Given the description of an element on the screen output the (x, y) to click on. 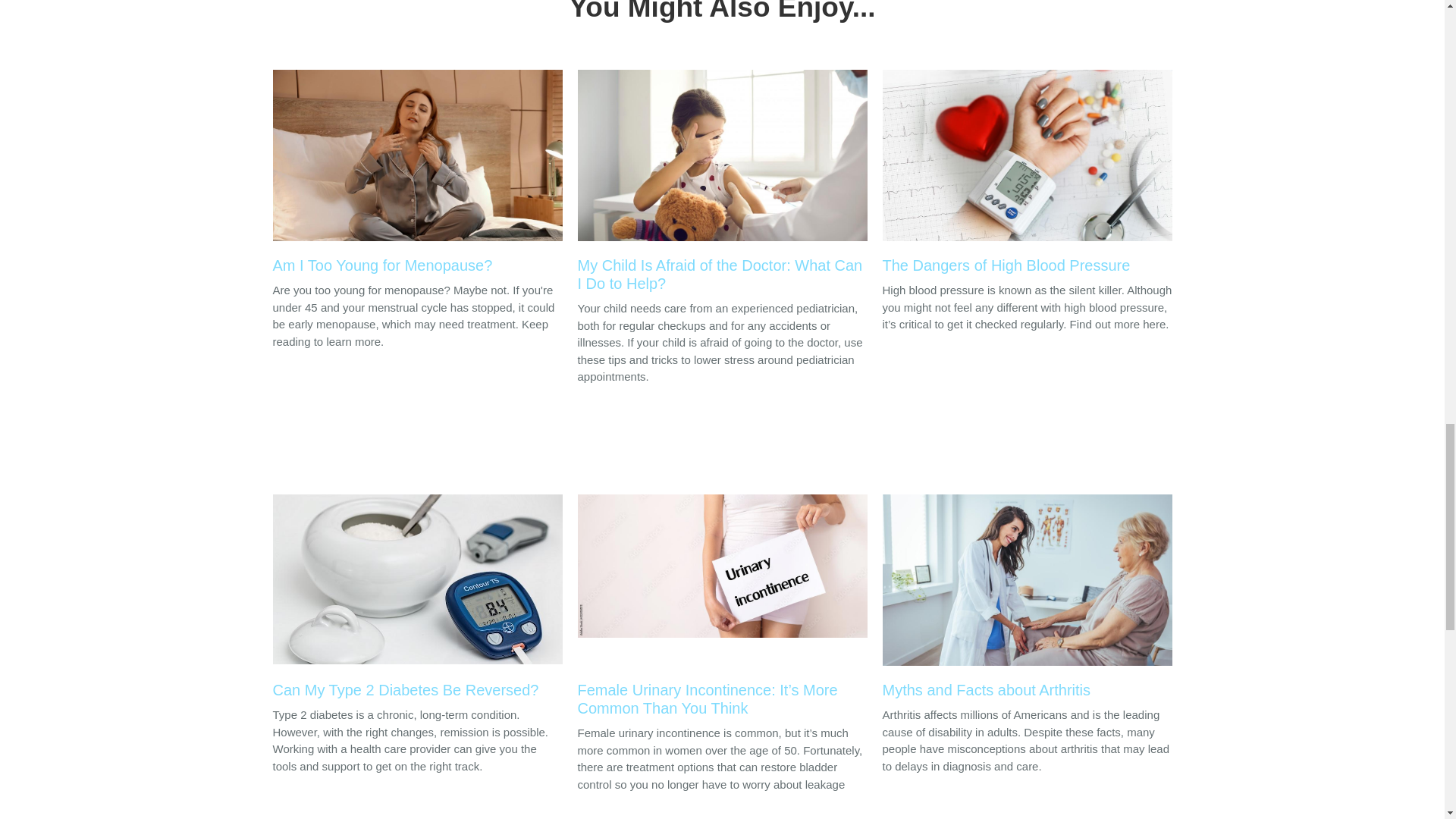
Can My Type 2 Diabetes Be Reversed? (417, 600)
Myths and Facts about Arthritis (1027, 600)
My Child Is Afraid of the Doctor: What Can I Do to Help? (722, 184)
The Dangers of High Blood Pressure (1027, 175)
Am I Too Young for Menopause? (417, 175)
